Given the description of an element on the screen output the (x, y) to click on. 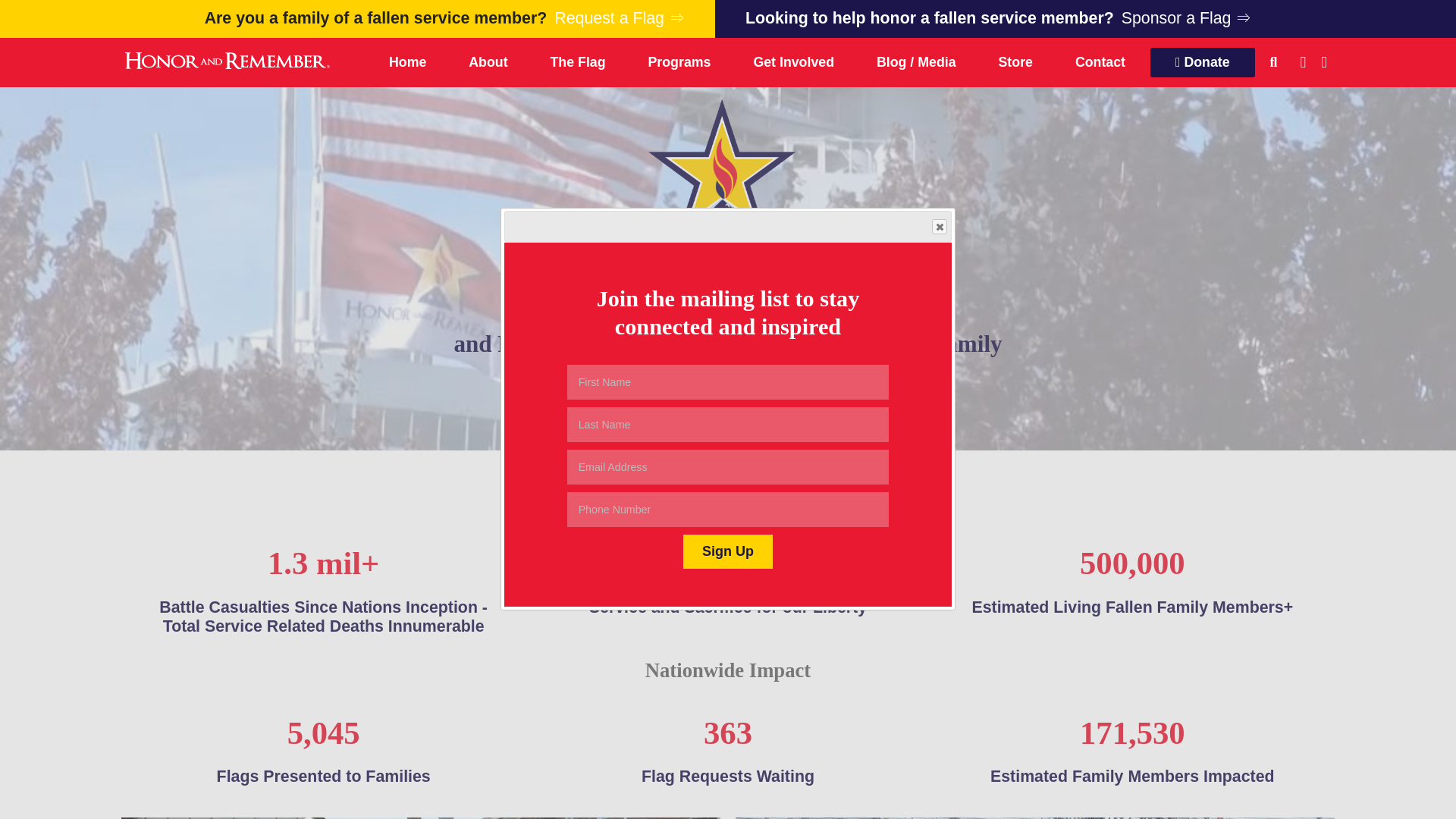
Home (407, 61)
Programs (679, 61)
Get Involved (793, 61)
The Flag (577, 61)
HR-logo (727, 174)
HR-logotype-white (225, 59)
About (487, 61)
